Given the description of an element on the screen output the (x, y) to click on. 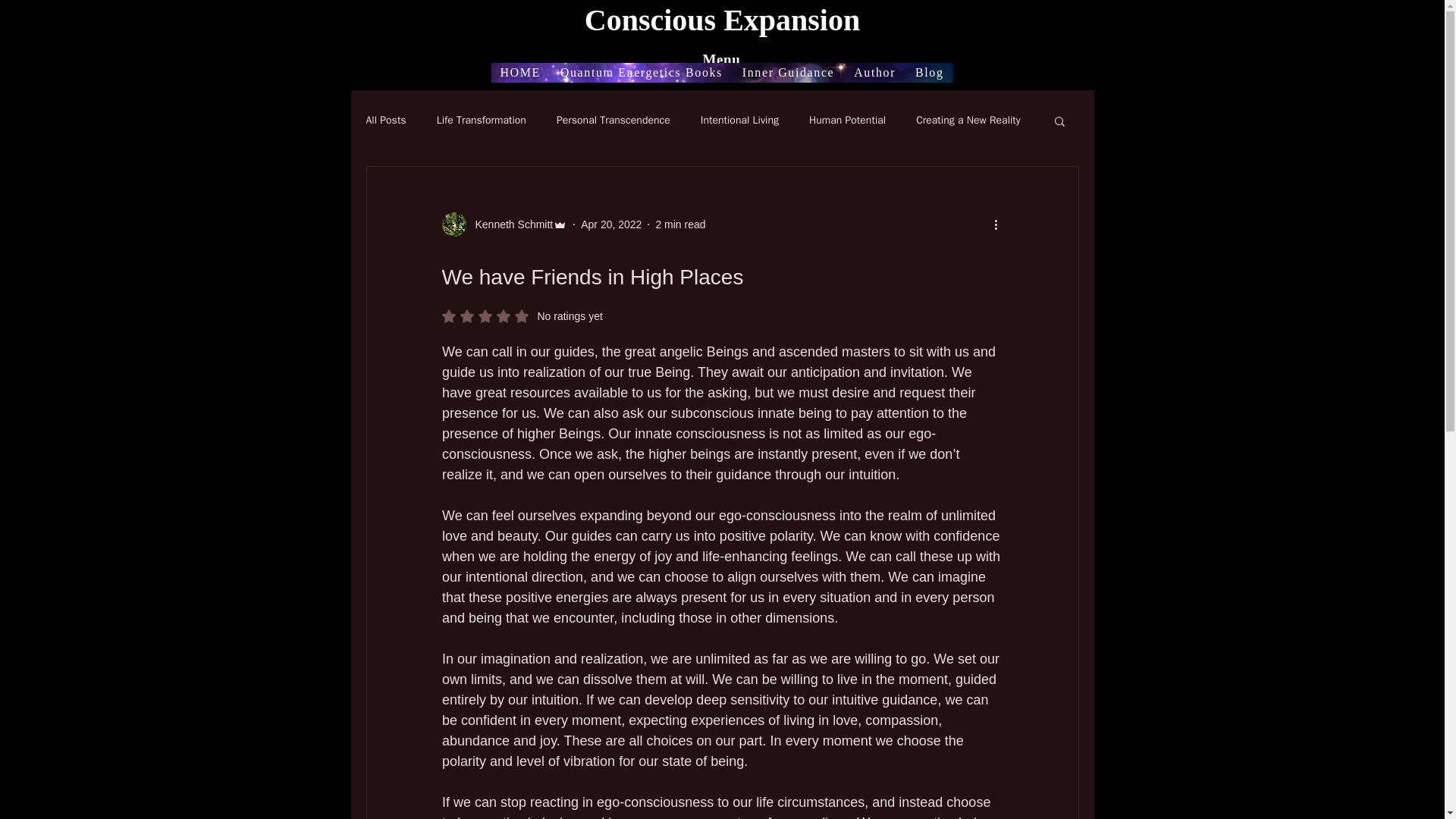
Inner Guidance (818, 72)
Intentional Living (739, 140)
All Posts (385, 140)
2 min read (679, 244)
HOME (521, 336)
Personal Transcendence (527, 72)
Creating a New Reality (612, 140)
Kenneth Schmitt (967, 140)
Quantum Energetics Books (509, 244)
Kenneth Schmitt (659, 72)
Blog (504, 243)
Life Transformation (868, 92)
Heart-Mind Connections (480, 140)
Apr 20, 2022 (636, 92)
